Given the description of an element on the screen output the (x, y) to click on. 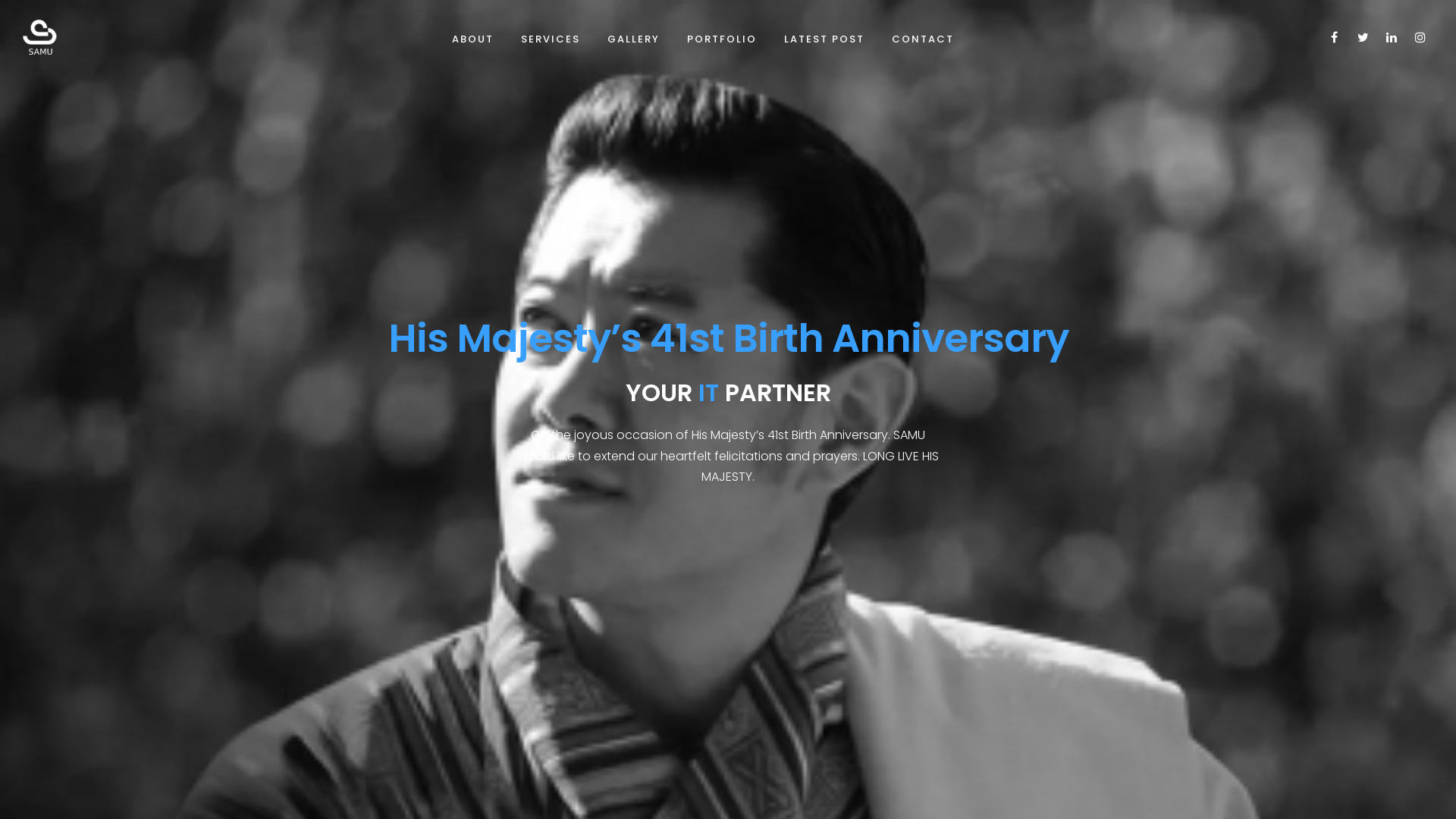
ABOUT Element type: text (472, 39)
LATEST POST Element type: text (824, 39)
PORTFOLIO Element type: text (721, 39)
GALLERY Element type: text (632, 39)
SERVICES Element type: text (549, 39)
CONTACT Element type: text (922, 39)
